Given the description of an element on the screen output the (x, y) to click on. 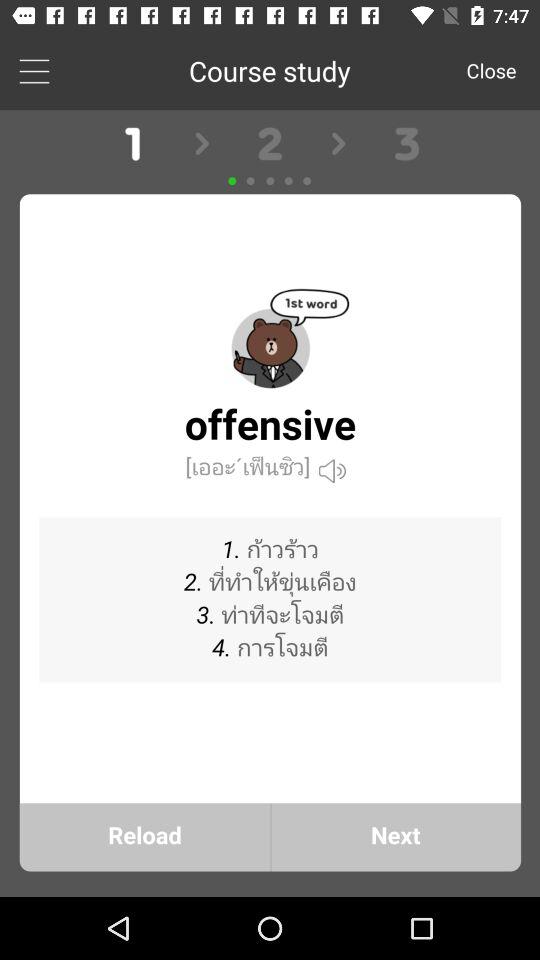
list box (33, 70)
